Given the description of an element on the screen output the (x, y) to click on. 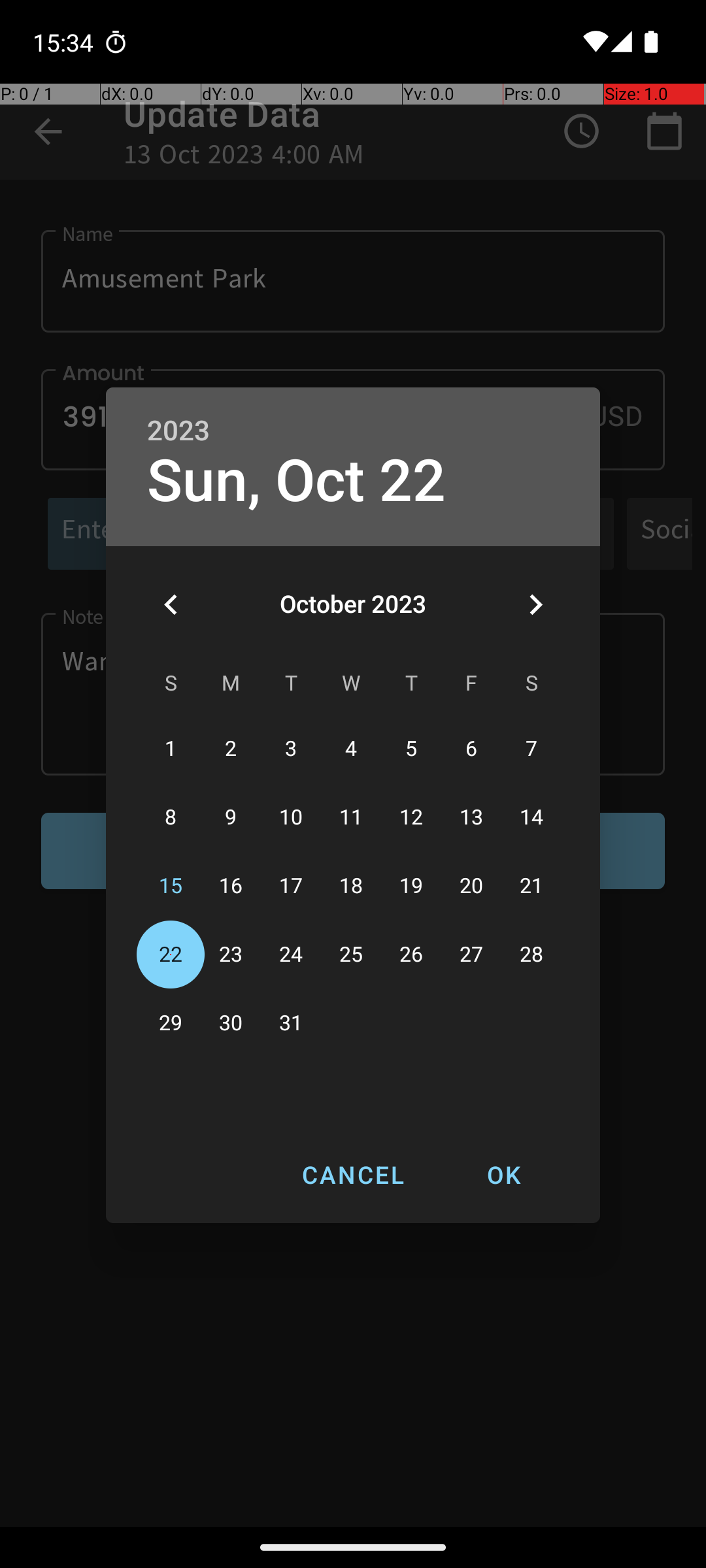
Sun, Oct 22 Element type: android.widget.TextView (296, 480)
